Given the description of an element on the screen output the (x, y) to click on. 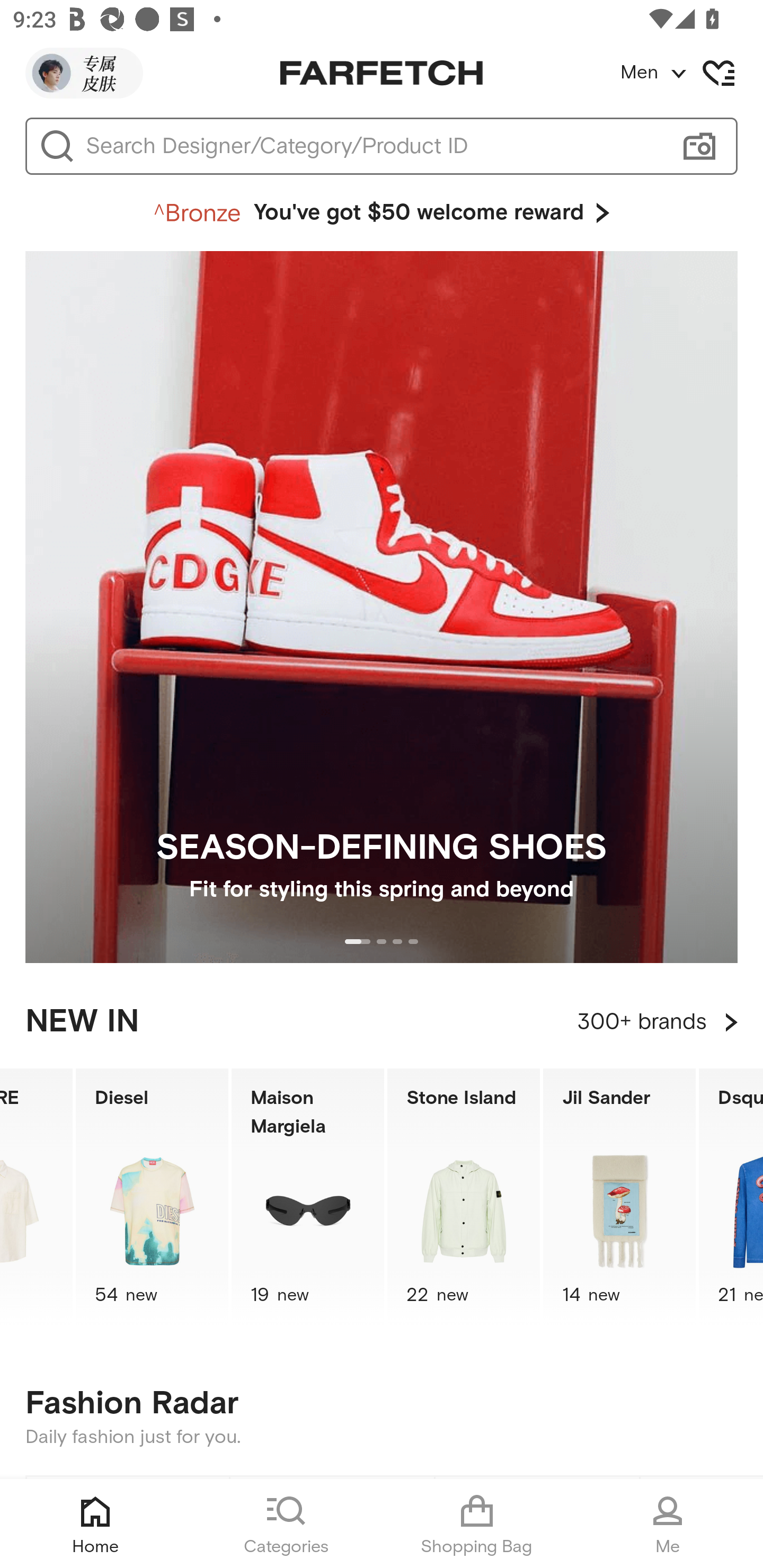
Men (691, 72)
Search Designer/Category/Product ID (373, 146)
You've got $50 welcome reward (381, 213)
NEW IN 300+ brands (381, 1021)
Diesel 54  new (151, 1196)
Maison Margiela 19  new (307, 1196)
Stone Island 22  new (463, 1196)
Jil Sander 14  new (619, 1196)
Categories (285, 1523)
Shopping Bag (476, 1523)
Me (667, 1523)
